Given the description of an element on the screen output the (x, y) to click on. 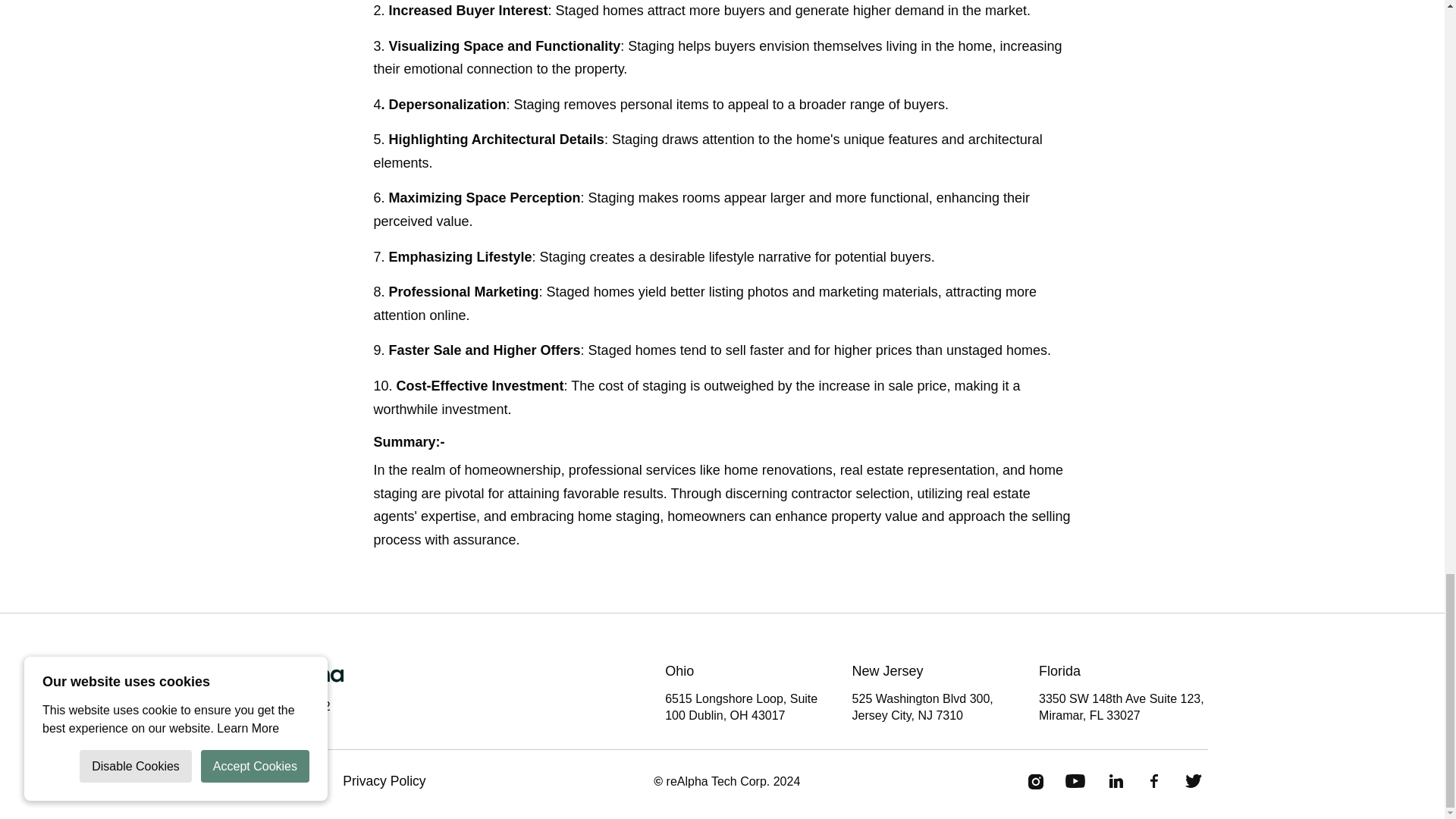
Privacy Policy (384, 781)
Terms of Use (281, 781)
